Given the description of an element on the screen output the (x, y) to click on. 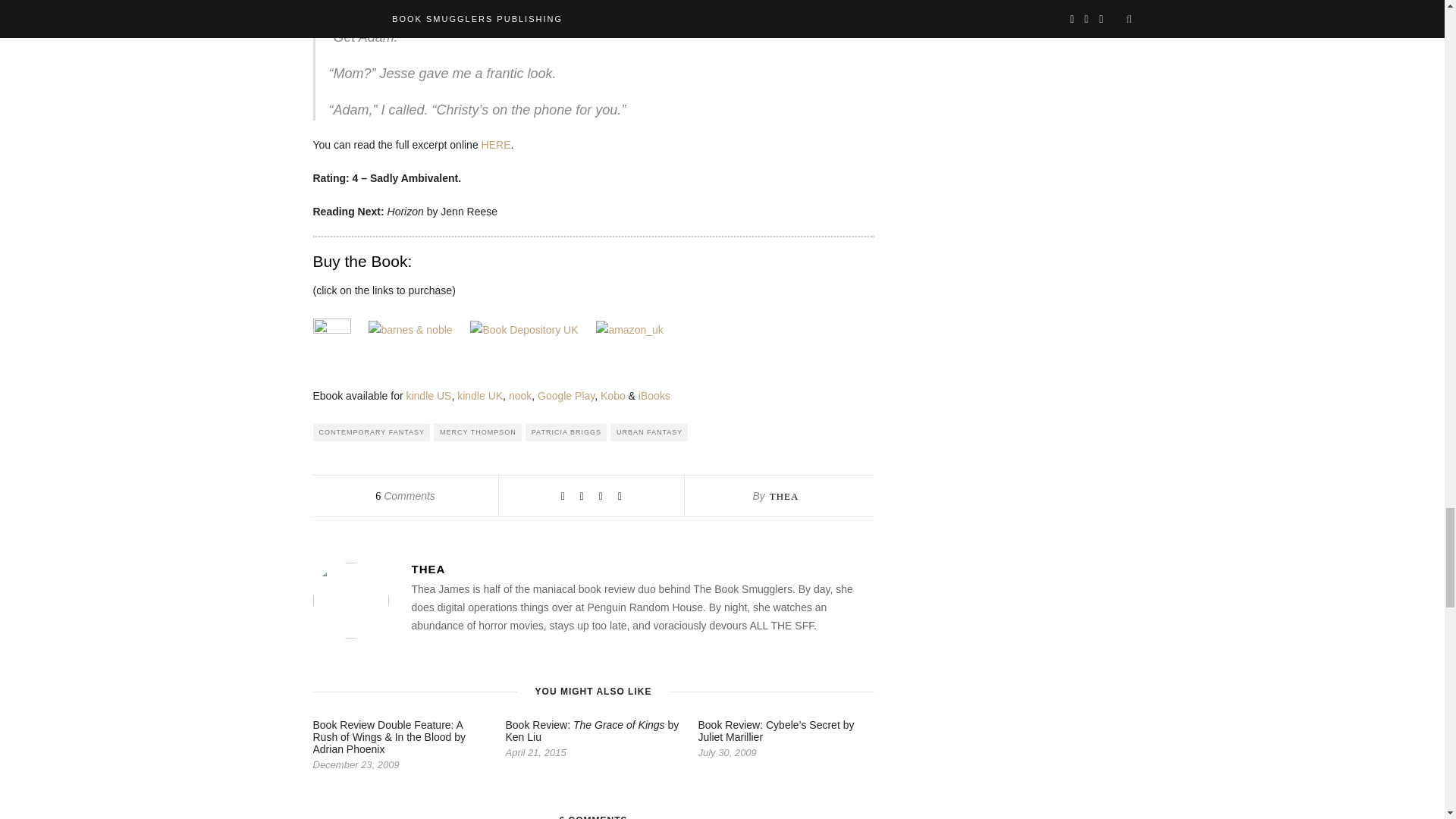
6 Comments (405, 495)
THEA (641, 568)
THEA (784, 496)
HERE (496, 144)
kindle UK (479, 395)
Book Review: The Grace of Kings by Ken Liu (591, 730)
iBooks (654, 395)
MERCY THOMPSON (477, 432)
amazon button (331, 337)
Posts by Thea (641, 568)
